Given the description of an element on the screen output the (x, y) to click on. 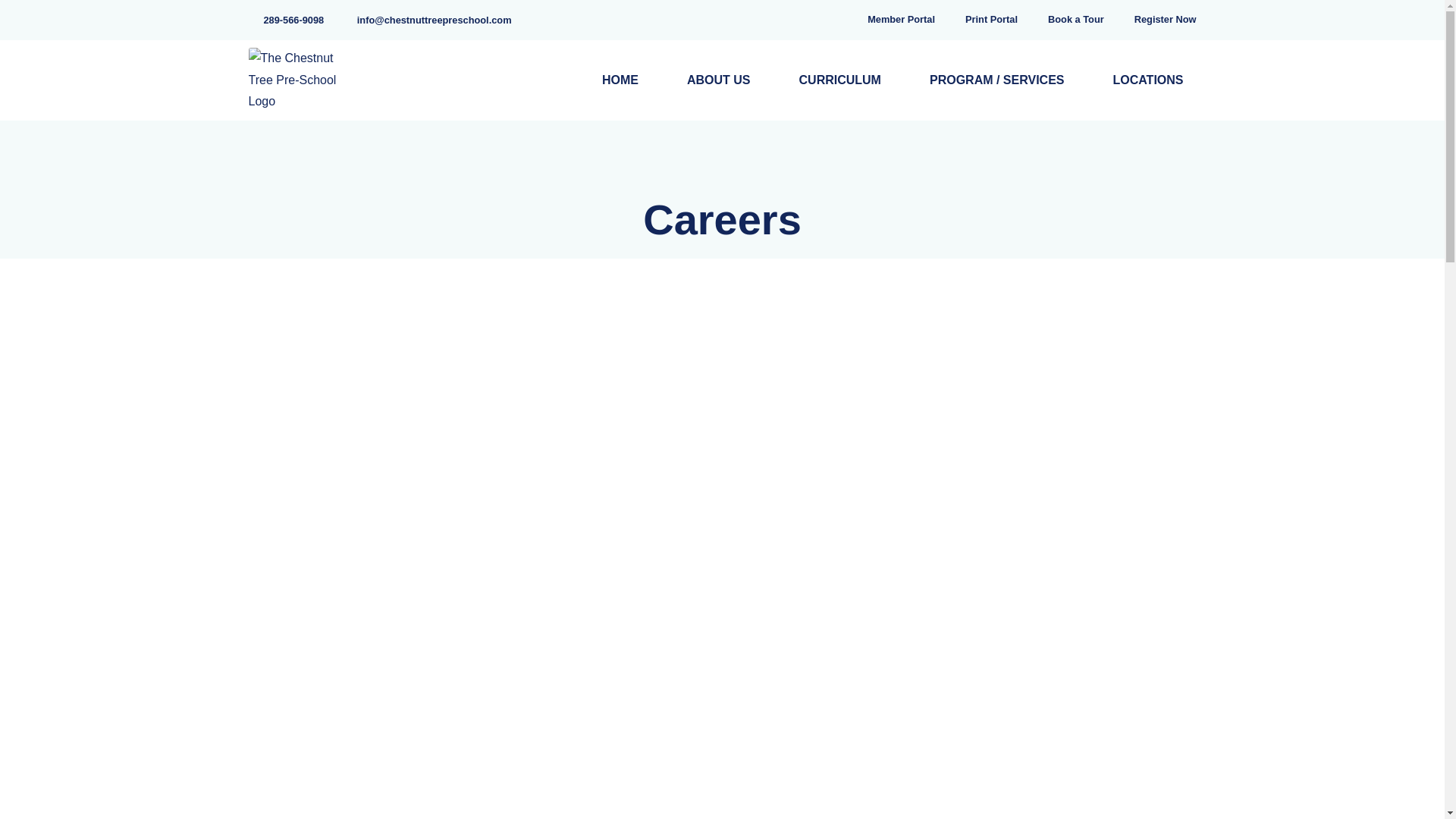
Member Portal (900, 20)
HOME (620, 80)
Print Portal (991, 20)
Book a Tour (1075, 20)
Register Now (1165, 20)
